Given the description of an element on the screen output the (x, y) to click on. 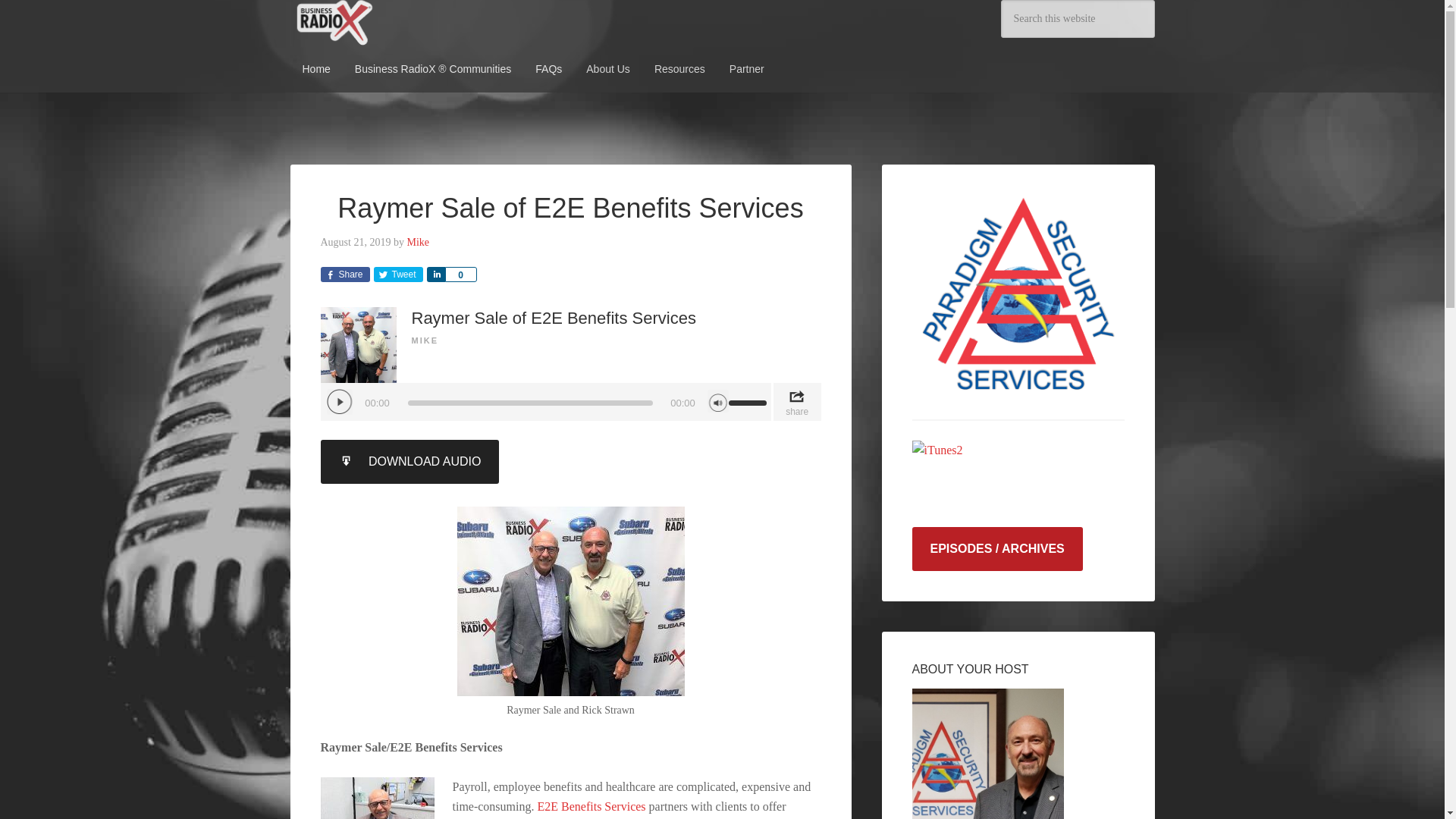
Home (315, 68)
Play (339, 401)
Mute (717, 400)
